Given the description of an element on the screen output the (x, y) to click on. 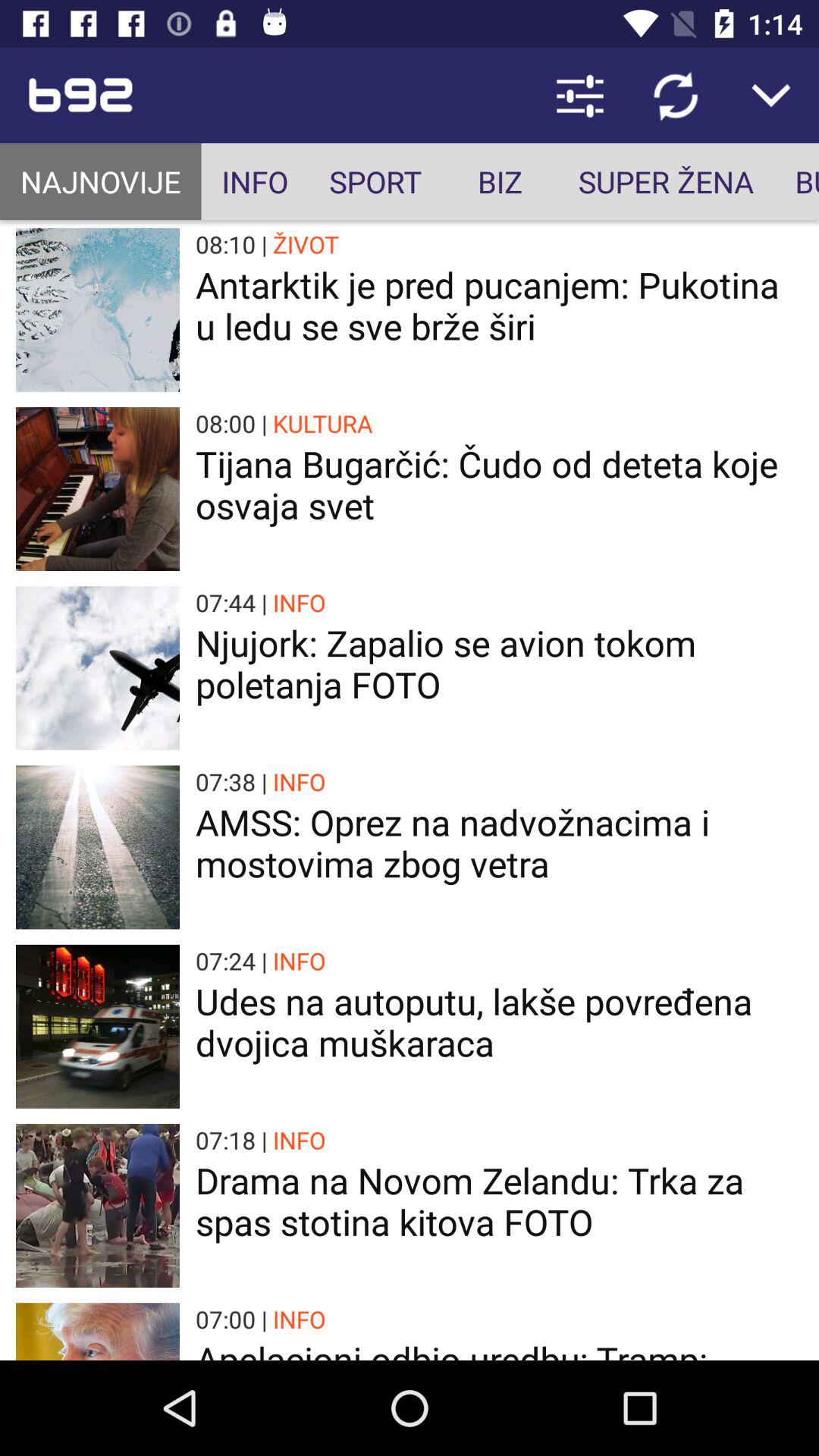
turn on the icon above the najnovije item (162, 95)
